Given the description of an element on the screen output the (x, y) to click on. 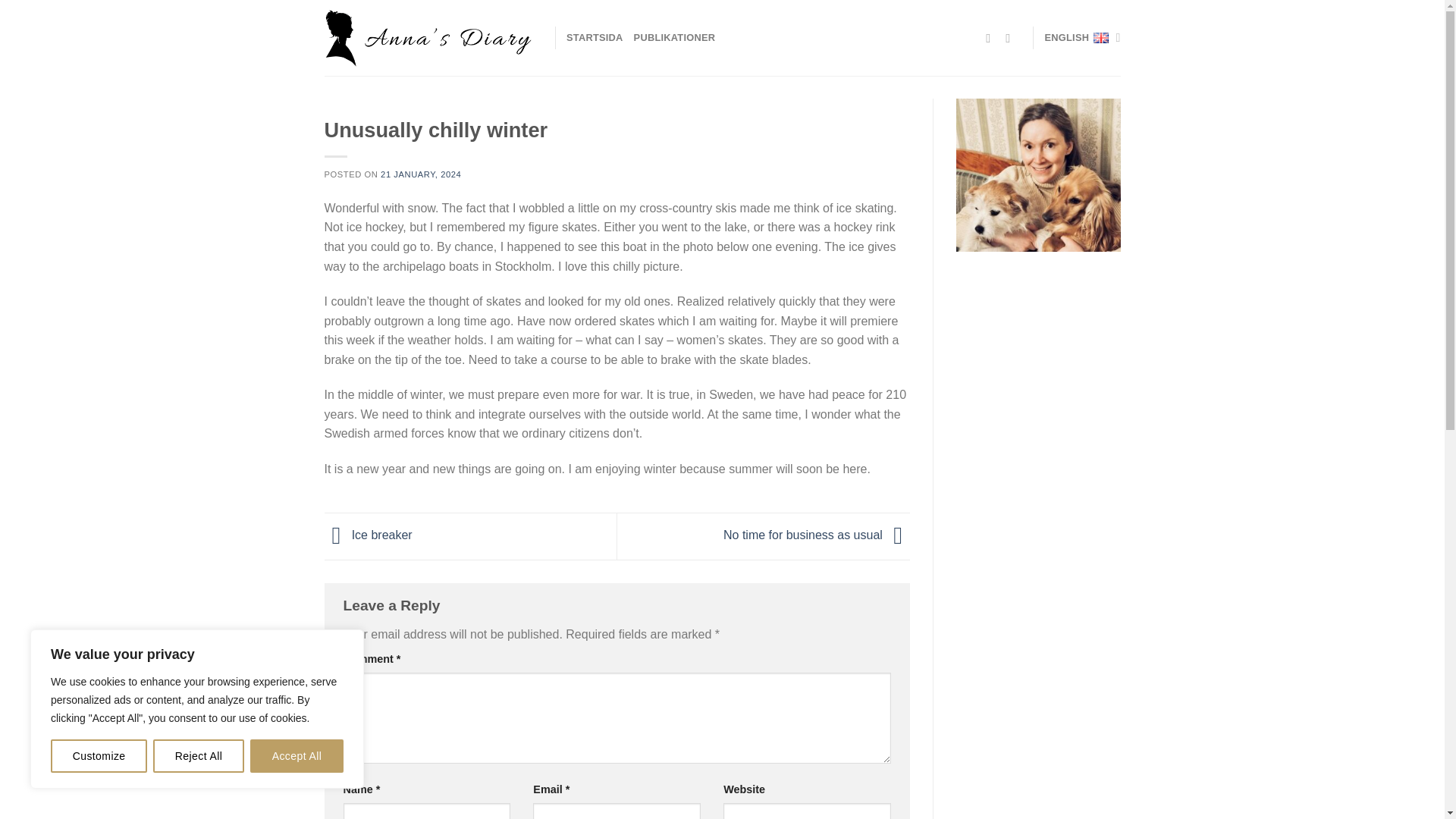
Customize (98, 756)
Ice breaker (368, 535)
STARTSIDA (594, 37)
No time for business as usual (816, 535)
Follow on Facebook (991, 38)
ENGLISH (1083, 37)
Reject All (198, 756)
21 JANUARY, 2024 (420, 174)
PUBLIKATIONER (674, 37)
Accept All (296, 756)
Follow on Instagram (1011, 38)
